Given the description of an element on the screen output the (x, y) to click on. 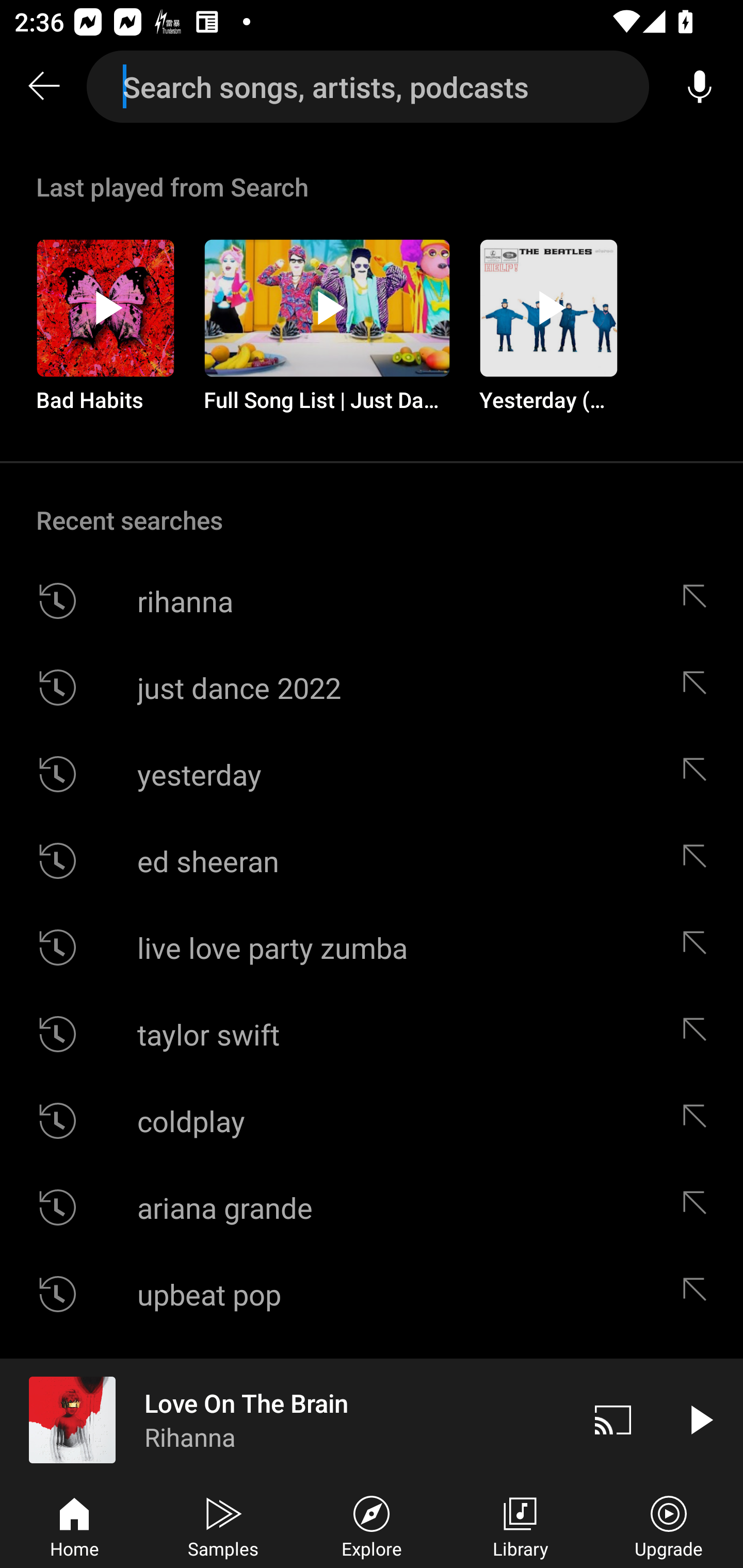
Search back (43, 86)
Search songs, artists, podcasts (367, 86)
Voice search (699, 86)
rihanna Edit suggestion rihanna (371, 601)
Edit suggestion rihanna (699, 601)
just dance 2022 Edit suggestion just dance 2022 (371, 687)
Edit suggestion just dance 2022 (699, 687)
yesterday Edit suggestion yesterday (371, 773)
Edit suggestion yesterday (699, 773)
ed sheeran Edit suggestion ed sheeran (371, 860)
Edit suggestion ed sheeran (699, 860)
Edit suggestion live love party zumba (699, 947)
taylor swift Edit suggestion taylor swift (371, 1033)
Edit suggestion taylor swift (699, 1033)
coldplay Edit suggestion coldplay (371, 1120)
Edit suggestion coldplay (699, 1120)
ariana grande Edit suggestion ariana grande (371, 1207)
Edit suggestion ariana grande (699, 1207)
upbeat pop Edit suggestion upbeat pop (371, 1294)
Edit suggestion upbeat pop (699, 1294)
Love On The Brain Rihanna (284, 1419)
Cast. Disconnected (612, 1419)
Play video (699, 1419)
Home (74, 1524)
Samples (222, 1524)
Explore (371, 1524)
Library (519, 1524)
Upgrade (668, 1524)
